Given the description of an element on the screen output the (x, y) to click on. 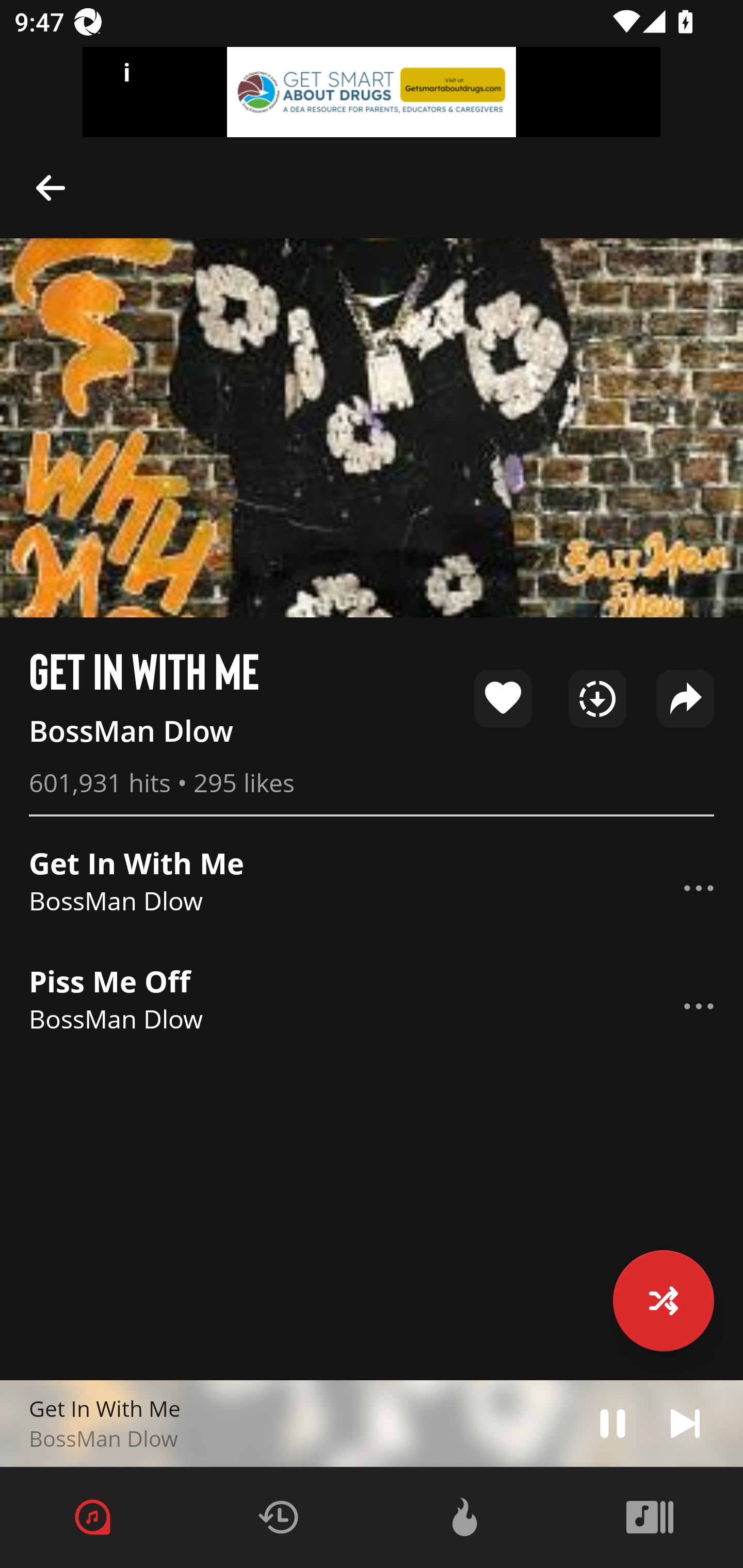
Description (50, 187)
Get In With Me BossMan Dlow Description (371, 888)
Description (698, 888)
Piss Me Off BossMan Dlow Description (371, 1005)
Description (698, 1005)
Description (612, 1422)
Description (685, 1422)
